Given the description of an element on the screen output the (x, y) to click on. 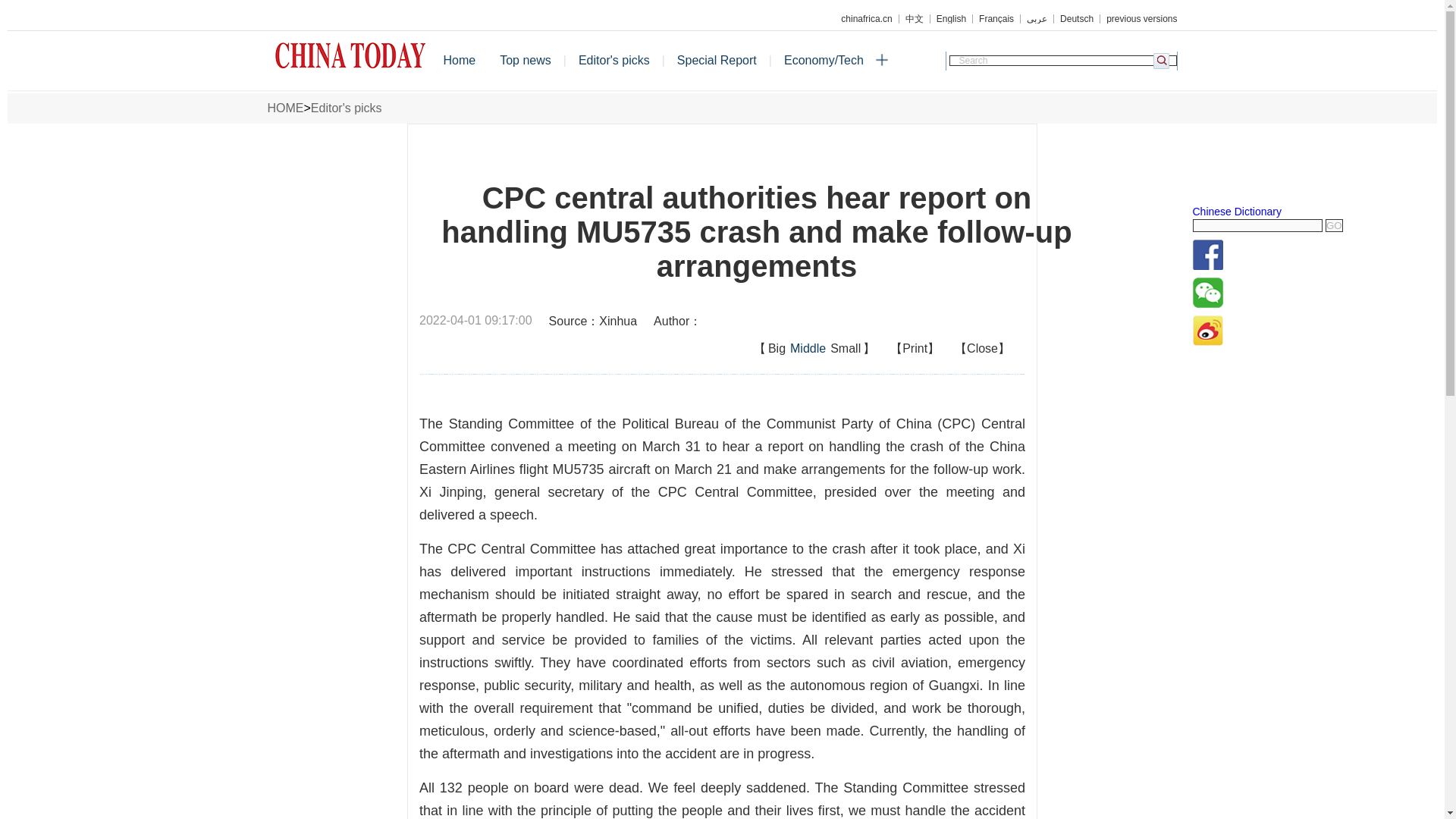
English (951, 18)
Top news (525, 60)
HOME (284, 108)
Home (458, 60)
GO (1333, 225)
Search (1062, 60)
Editor's picks (346, 108)
Editor's picks (614, 60)
previous versions (1138, 18)
Special Report (716, 60)
Deutsch (1076, 18)
chinafrica.cn (866, 18)
